Given the description of an element on the screen output the (x, y) to click on. 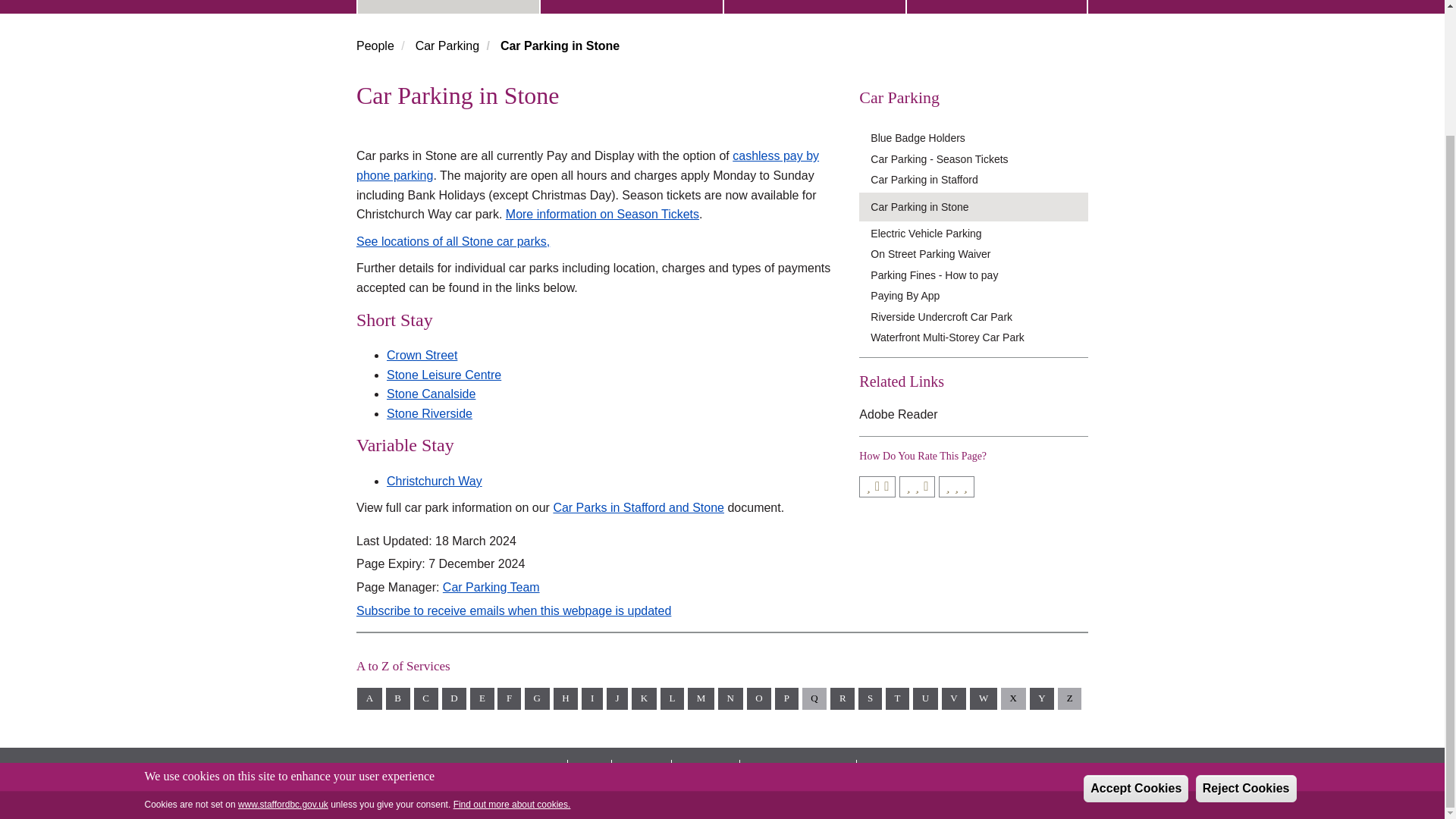
Accept Cookies (1135, 636)
Find out more about cookies. (511, 652)
Car Parks in Stafford and Stone (638, 507)
cashless pay by phone parking (587, 165)
Adobe Reader (898, 413)
Stone Riverside Car Park (429, 413)
Paying By App (978, 295)
Cash Free Parking (587, 165)
Car Parking in Stone (978, 207)
Reject Cookies (1246, 636)
Electric Vehicle Parking (978, 233)
Car Parking - Season Tickets (978, 158)
Riverside Undercroft Car Park (978, 315)
Christchurch Way (434, 481)
Blue Badge Holders (978, 137)
